Given the description of an element on the screen output the (x, y) to click on. 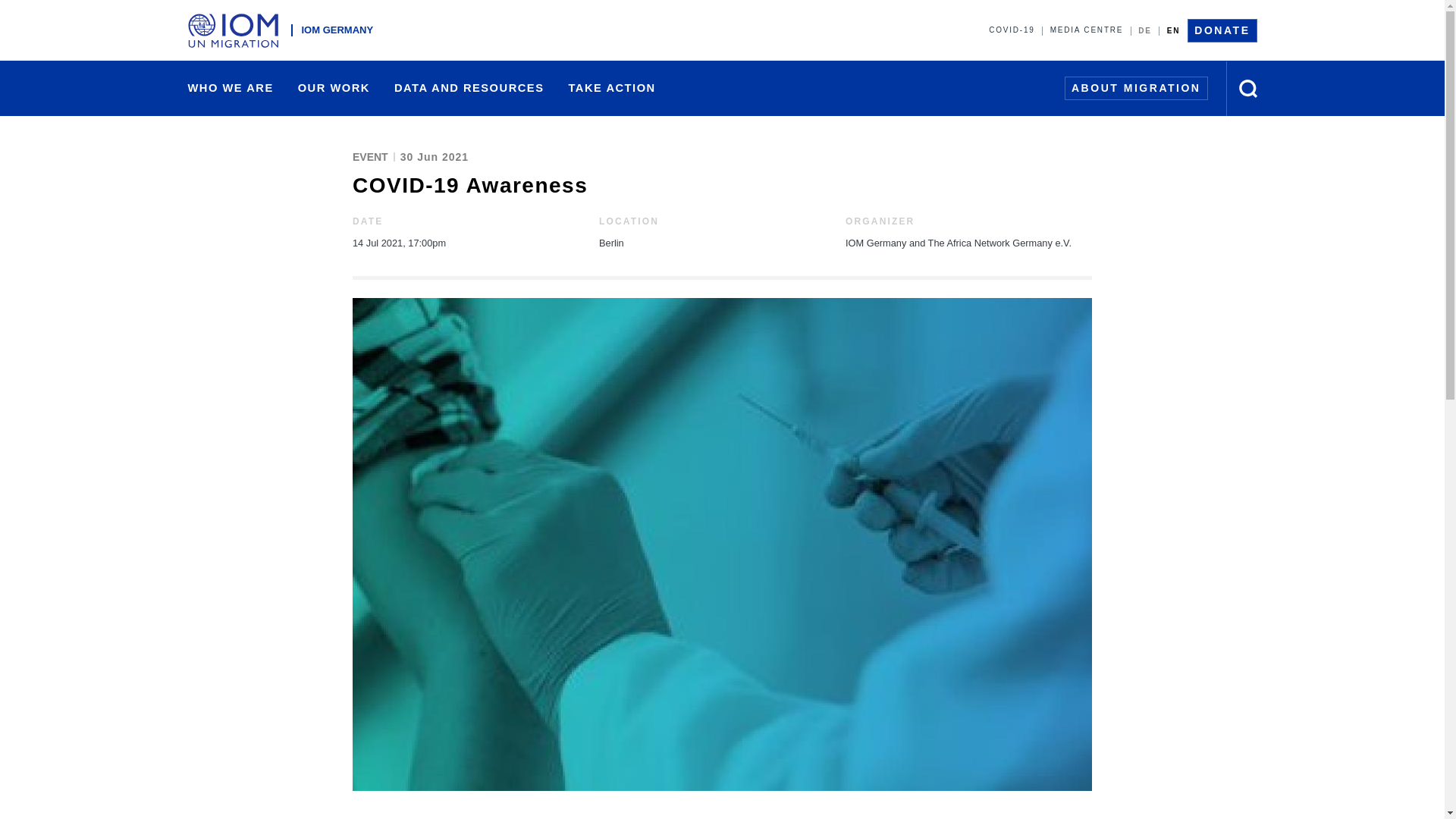
COVID-19 (1011, 30)
MEDIA CENTRE (1086, 30)
Skip to main content (721, 1)
OUR WORK (333, 88)
EN (1173, 30)
DONATE (1222, 29)
Click here to Search our website (1248, 87)
DE (1144, 30)
DATA AND RESOURCES (468, 88)
TAKE ACTION (611, 88)
ABOUT MIGRATION (1136, 87)
WHO WE ARE (230, 88)
Home (236, 30)
2030 AGENDA (684, 88)
